Given the description of an element on the screen output the (x, y) to click on. 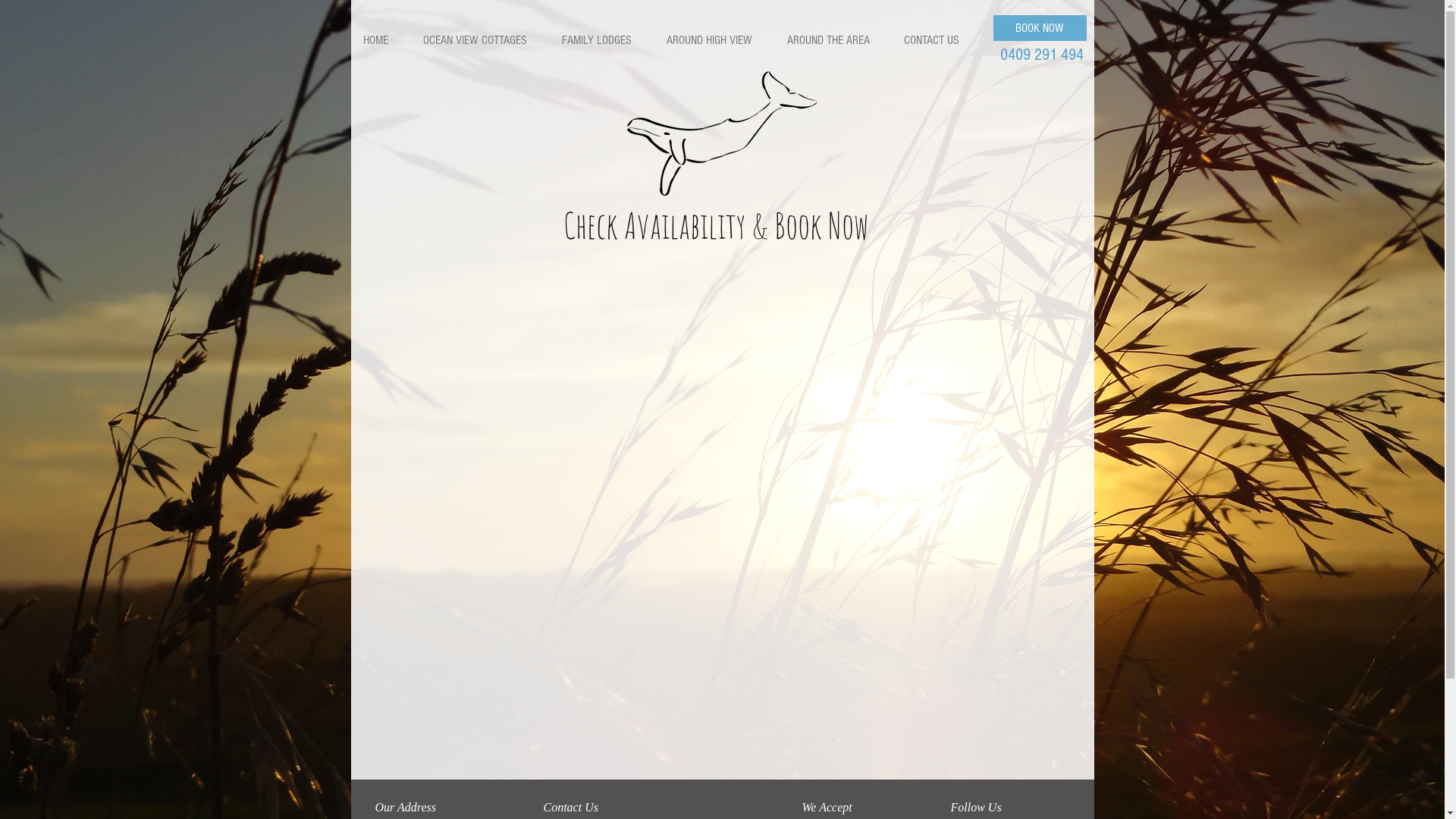
HOME Element type: text (381, 40)
AROUND HIGH VIEW Element type: text (713, 40)
BOOK NOW Element type: text (1039, 27)
FAMILY LODGES Element type: text (601, 40)
OCEAN VIEW COTTAGES Element type: text (480, 40)
AROUND THE AREA Element type: text (833, 40)
CONTACT US Element type: text (936, 40)
